Given the description of an element on the screen output the (x, y) to click on. 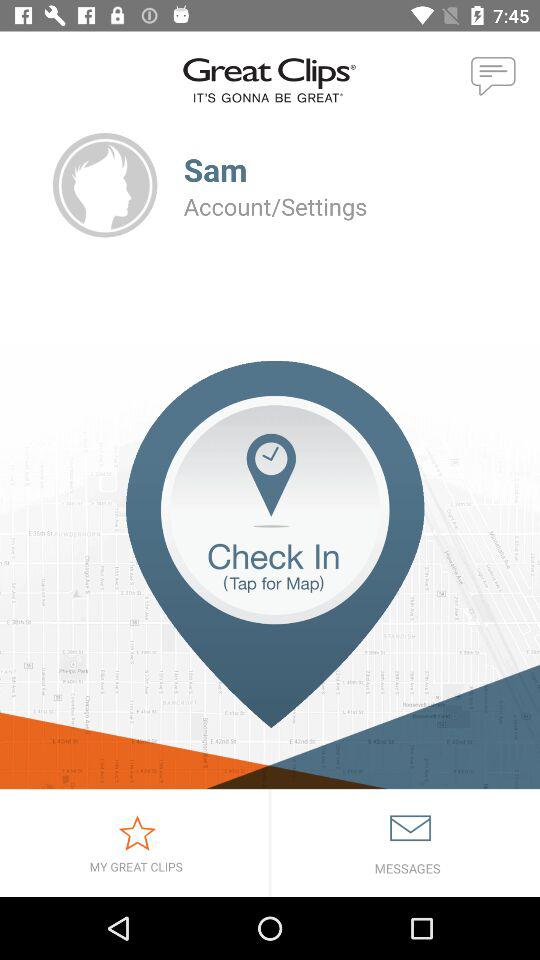
read mail (405, 843)
